Given the description of an element on the screen output the (x, y) to click on. 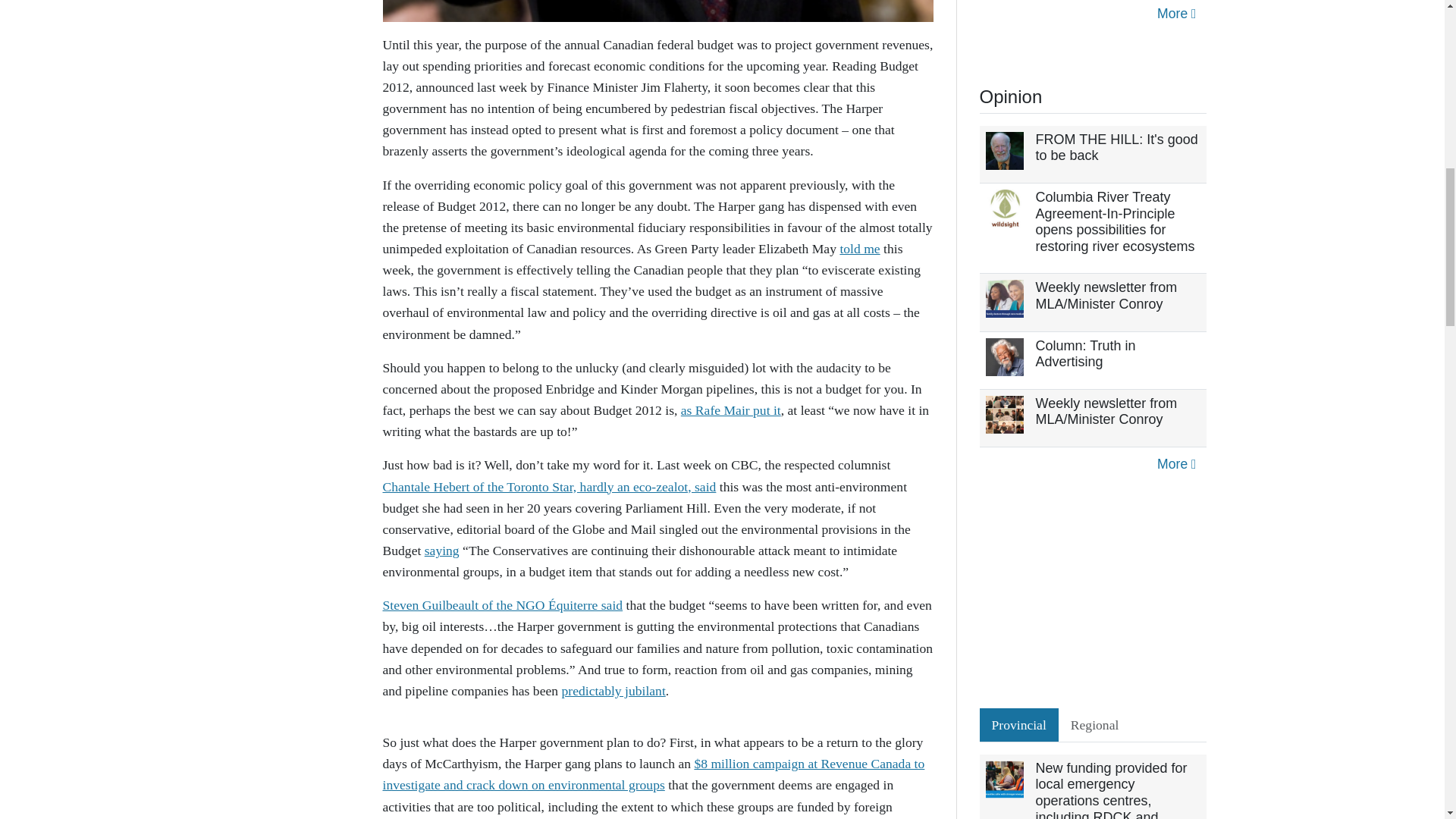
saying (442, 549)
3rd party ad content (1093, 595)
as Rafe Mair put it (730, 409)
told me (859, 248)
predictably jubilant (612, 690)
